Given the description of an element on the screen output the (x, y) to click on. 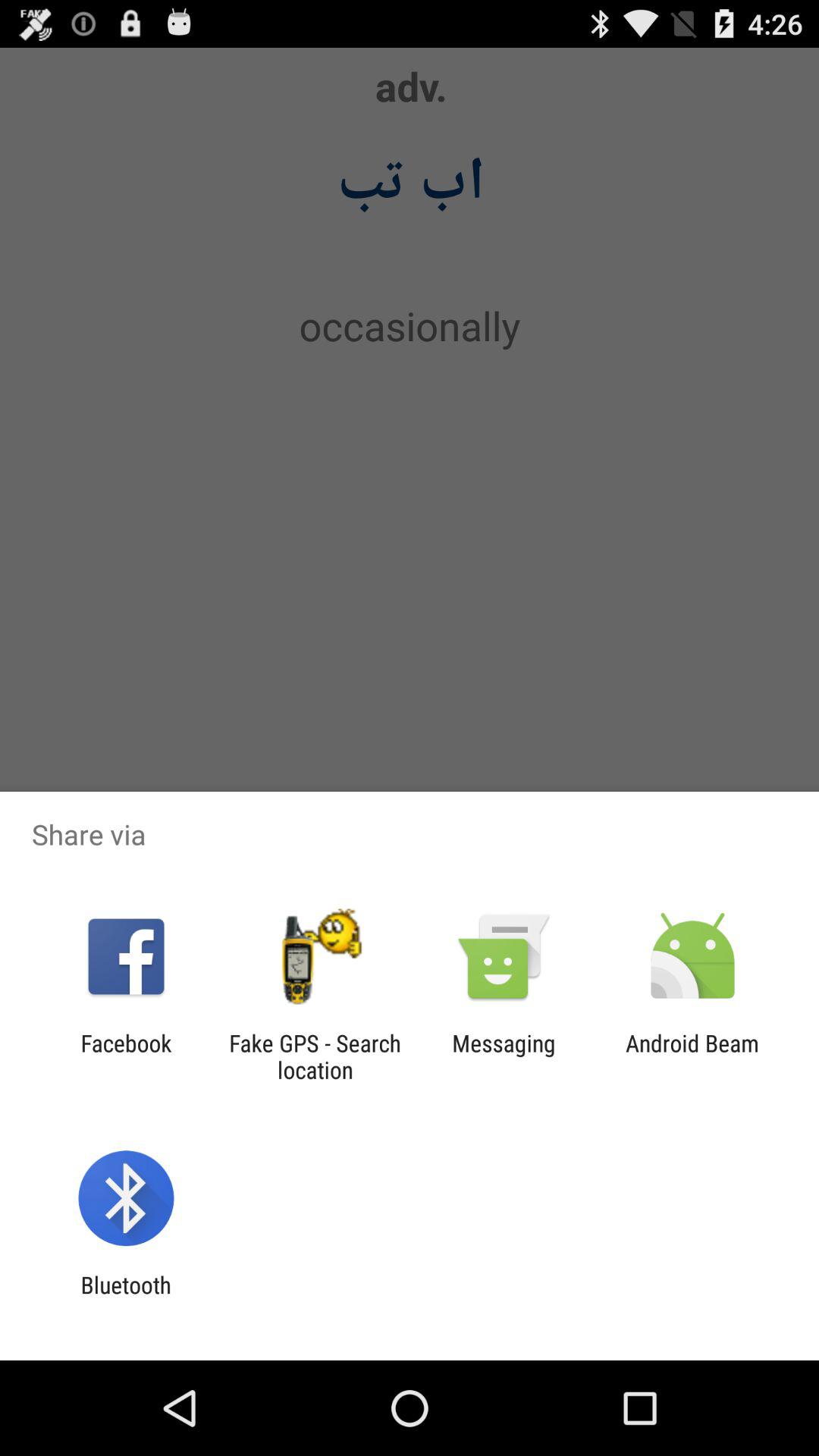
tap app to the right of the fake gps search (503, 1056)
